Given the description of an element on the screen output the (x, y) to click on. 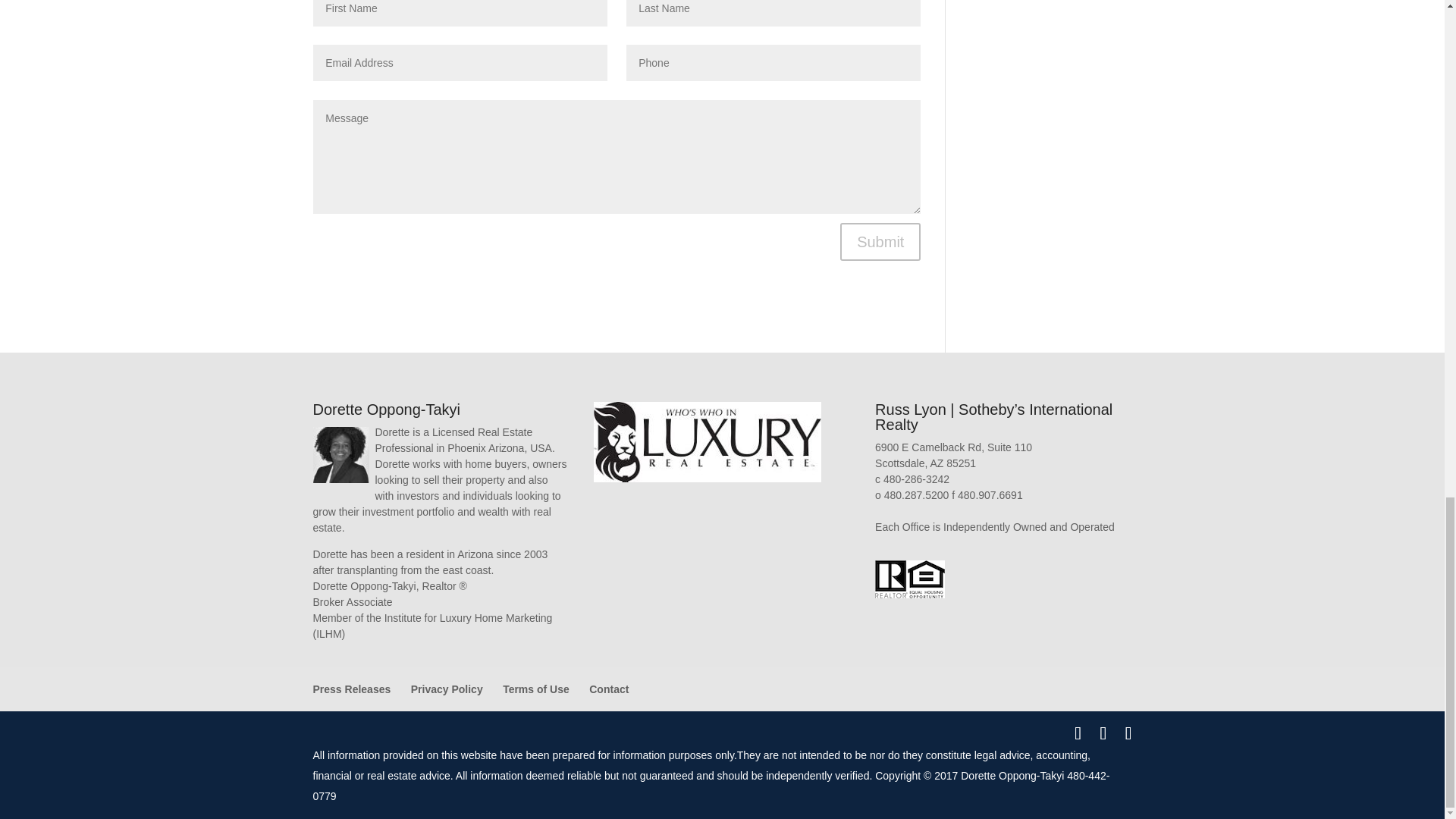
Privacy Policy (446, 689)
Equal Housing Opportunity (925, 579)
Contact (608, 689)
Press Releases (351, 689)
Submit (880, 241)
Terms of Use (535, 689)
